Given the description of an element on the screen output the (x, y) to click on. 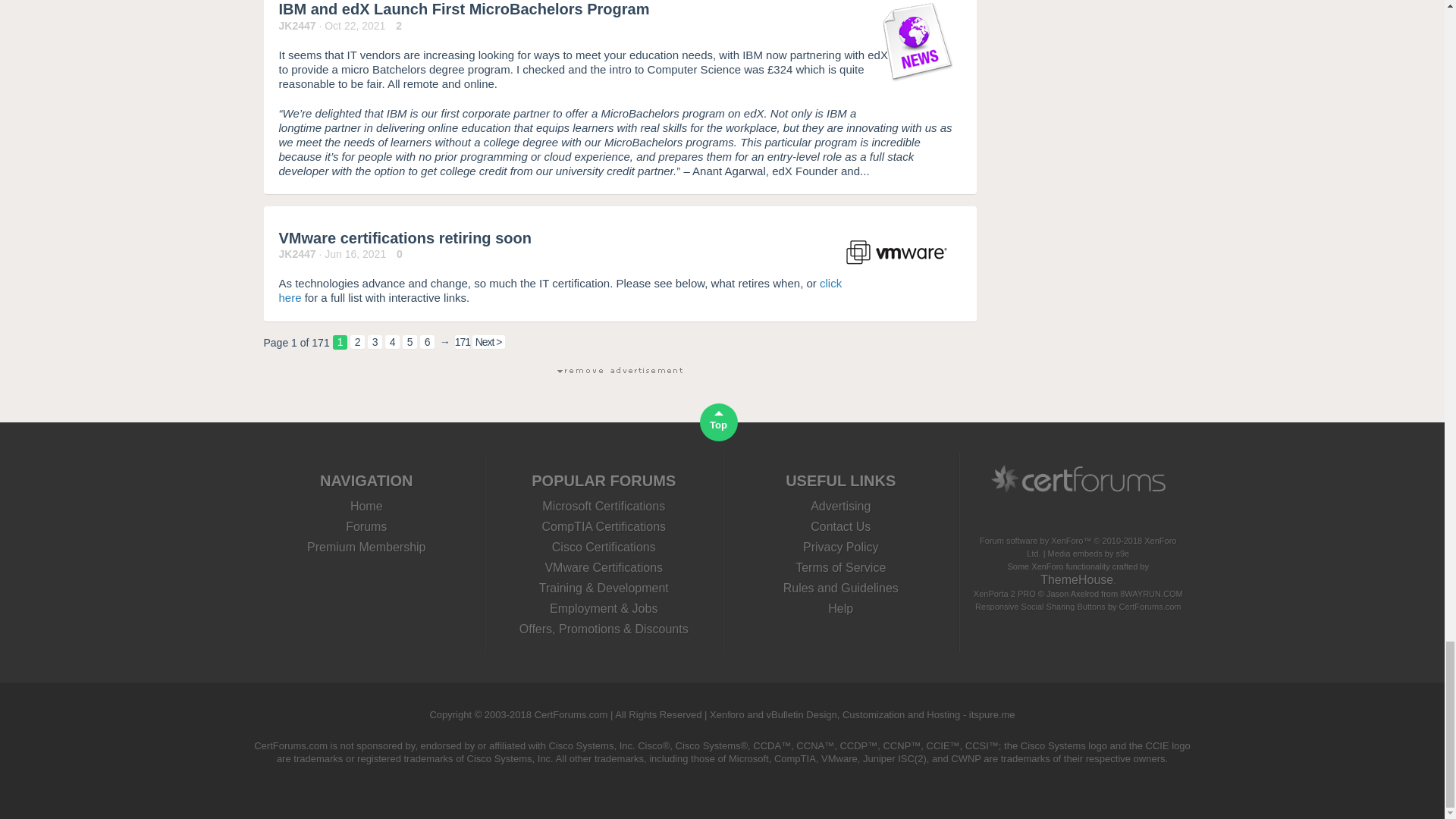
Top (391, 341)
